Given the description of an element on the screen output the (x, y) to click on. 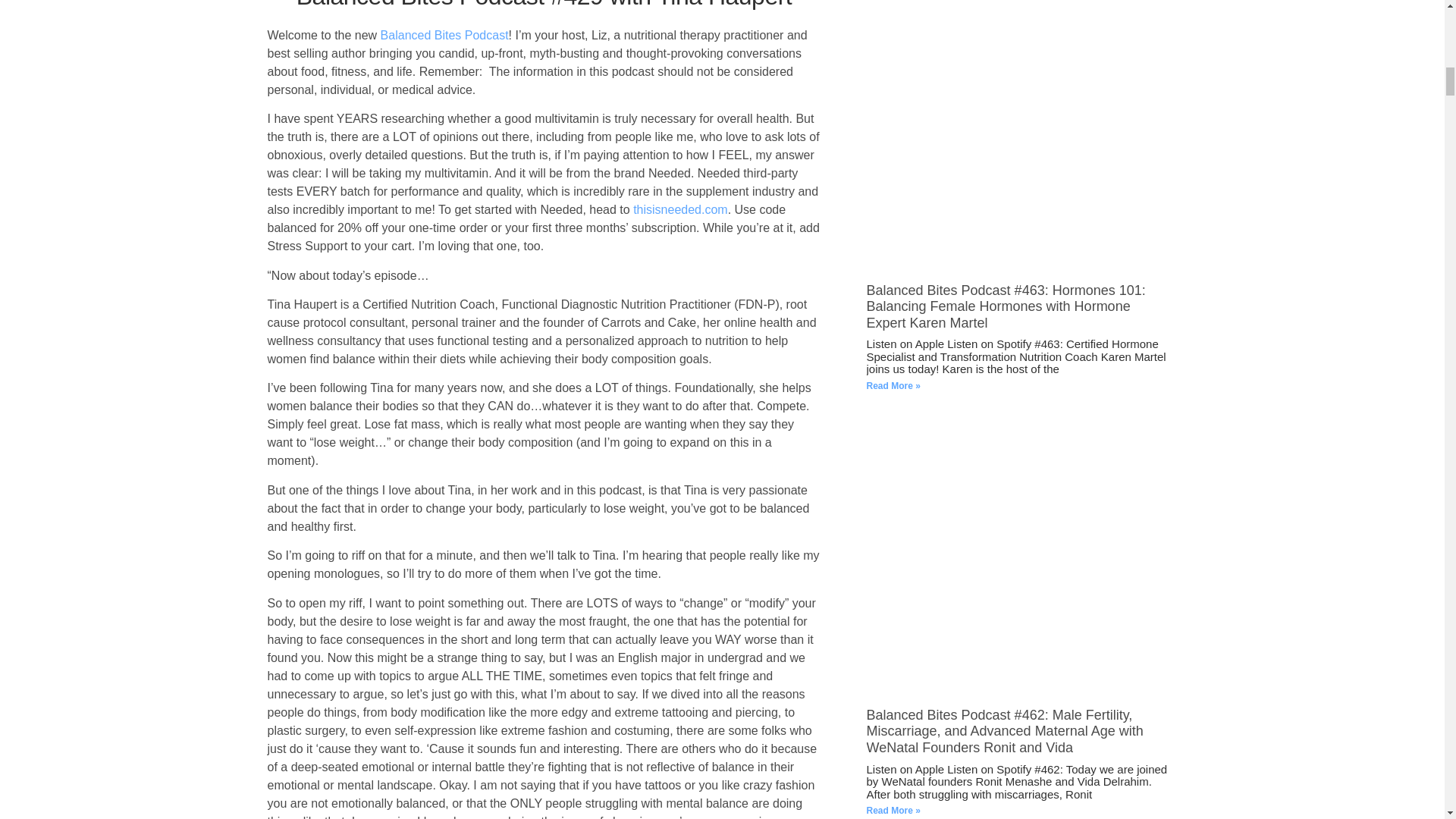
Balanced Bites Podcast (444, 34)
thisisneeded.com (680, 209)
